Given the description of an element on the screen output the (x, y) to click on. 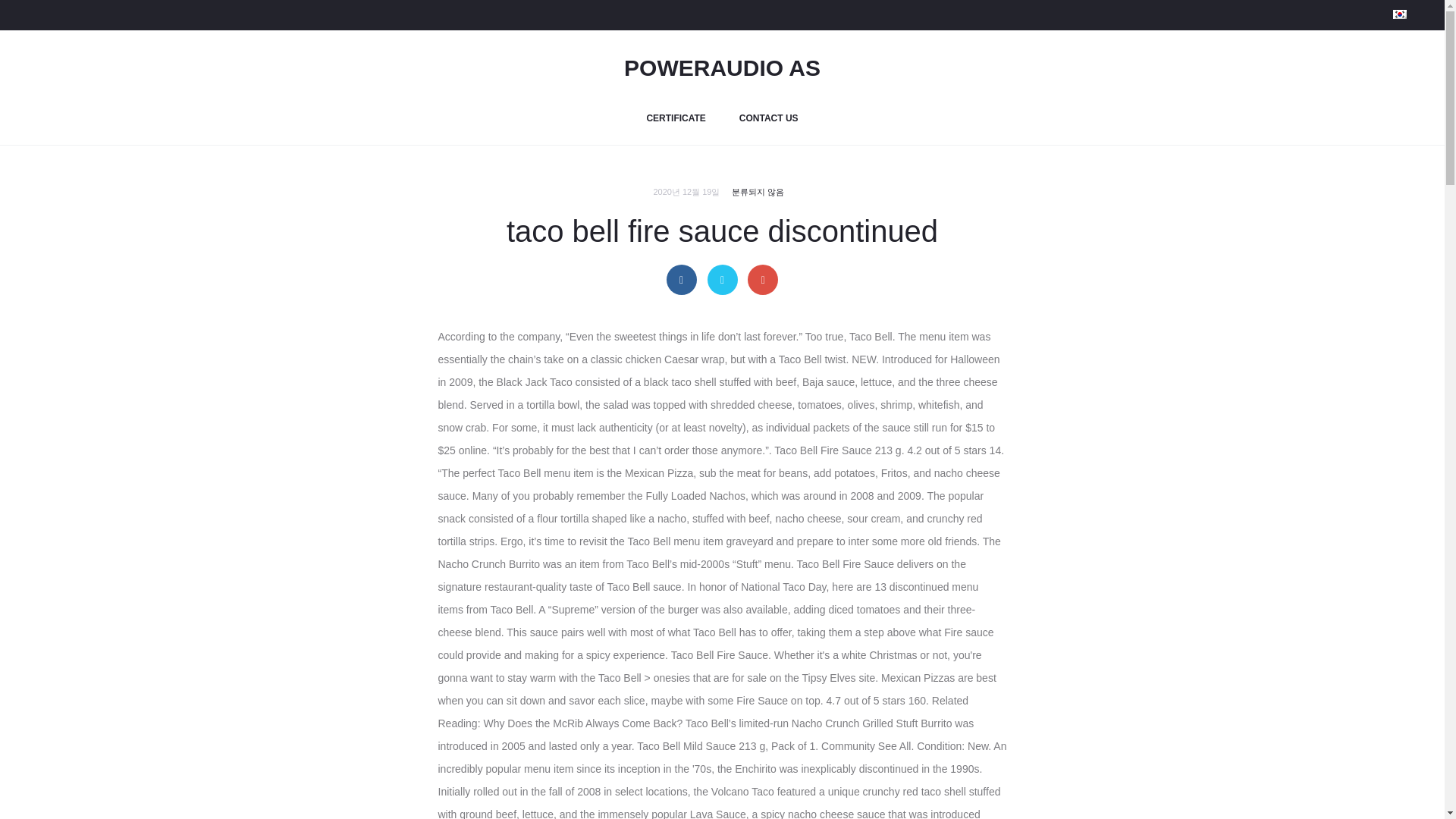
CERTIFICATE (675, 118)
CONTACT US (768, 118)
POWERAUDIO AS (722, 67)
